Given the description of an element on the screen output the (x, y) to click on. 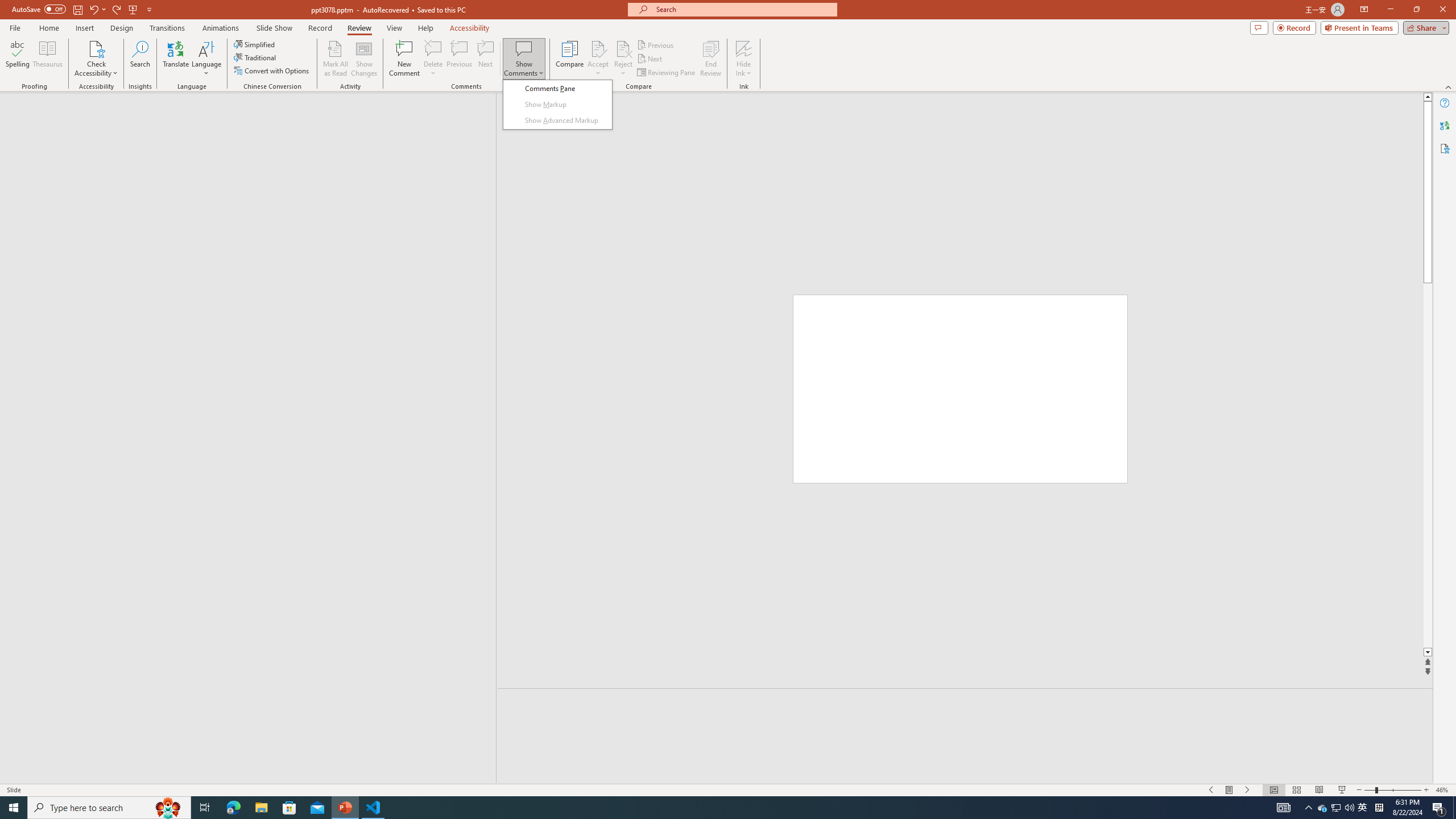
Show Changes (363, 58)
Accept Change (598, 48)
Reject (622, 58)
